Given the description of an element on the screen output the (x, y) to click on. 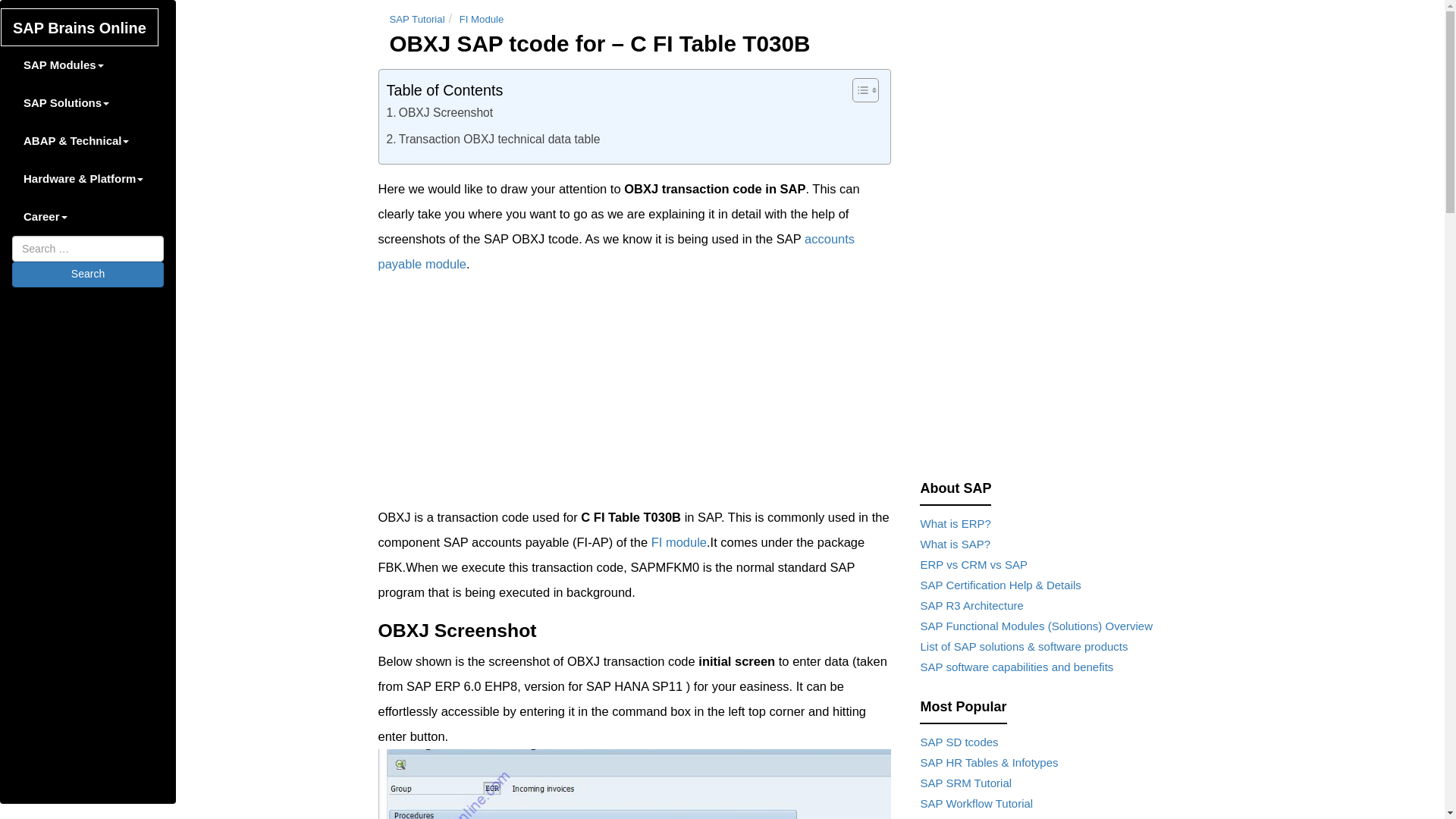
SAP Modules (63, 64)
SAP Solutions (65, 103)
SAP Brains Online (79, 26)
